Given the description of an element on the screen output the (x, y) to click on. 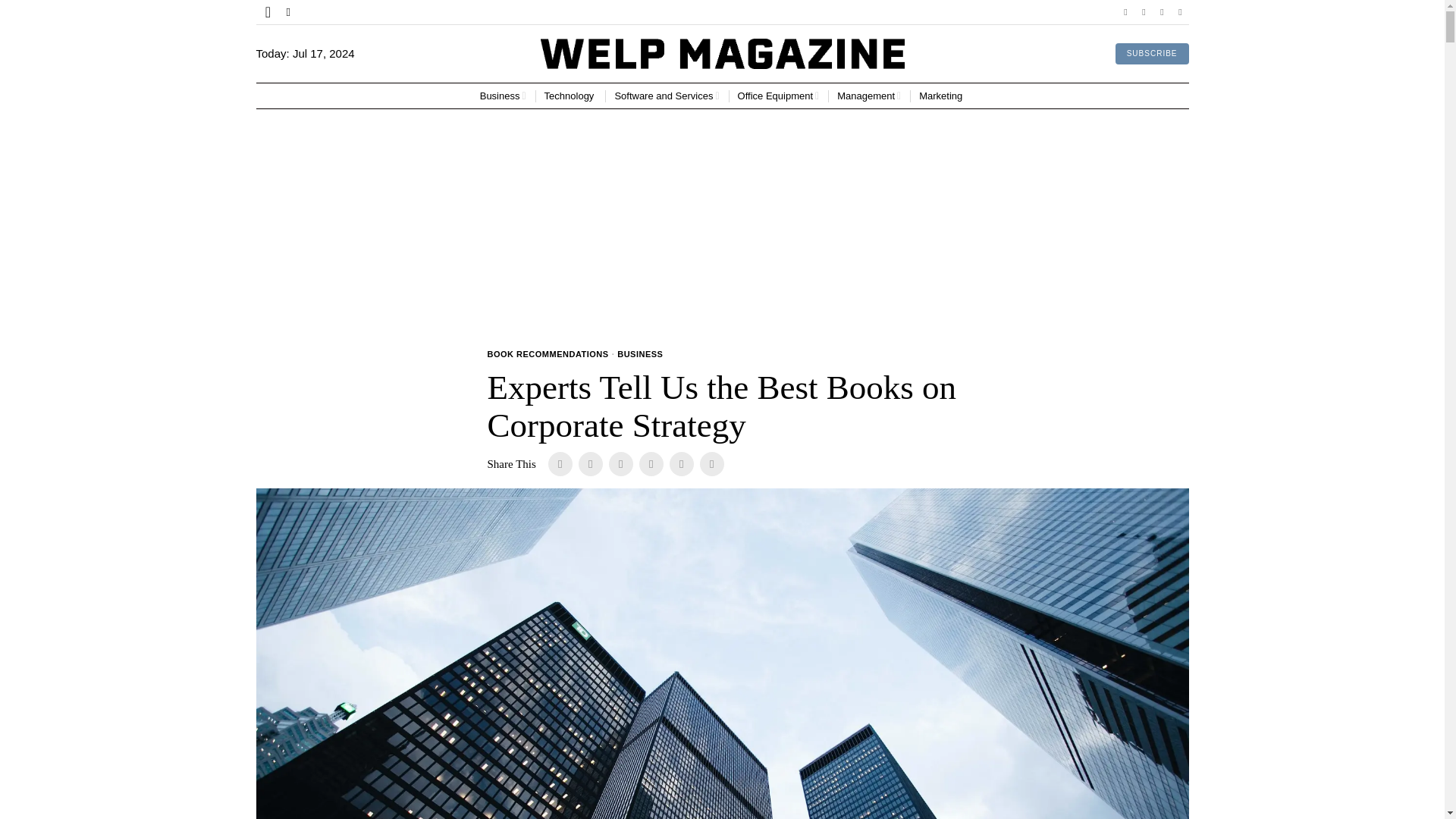
Software and Services (666, 95)
BOOK RECOMMENDATIONS (547, 354)
Management (869, 95)
Technology (570, 95)
Marketing (942, 95)
Business (502, 95)
SUBSCRIBE (1152, 53)
Office Equipment (778, 95)
BUSINESS (639, 354)
